Given the description of an element on the screen output the (x, y) to click on. 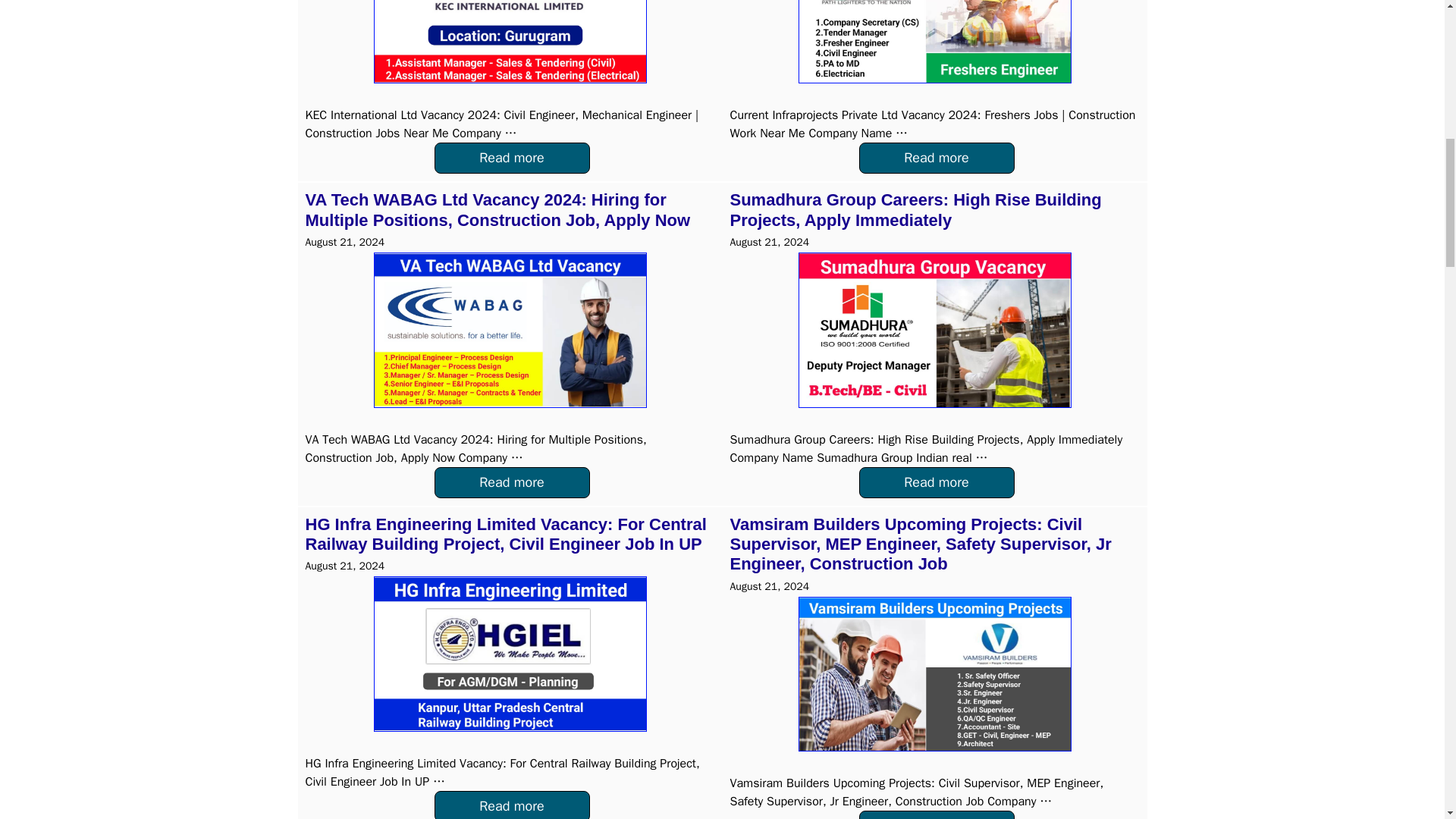
Home 2 (933, 42)
Home 1 (509, 42)
Read more (936, 814)
Read more (511, 481)
Home 5 (509, 654)
